Given the description of an element on the screen output the (x, y) to click on. 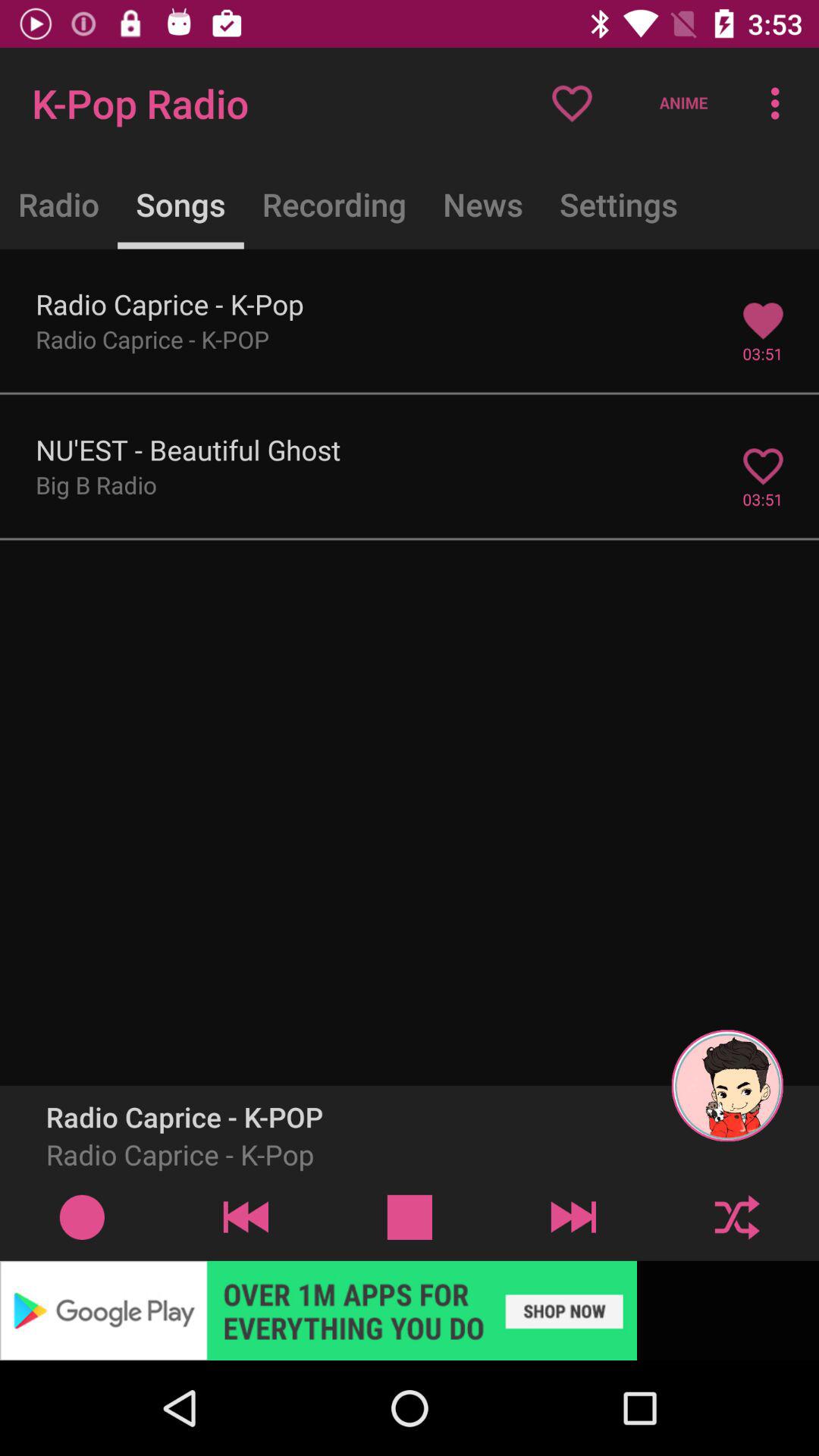
previous track (245, 1216)
